Given the description of an element on the screen output the (x, y) to click on. 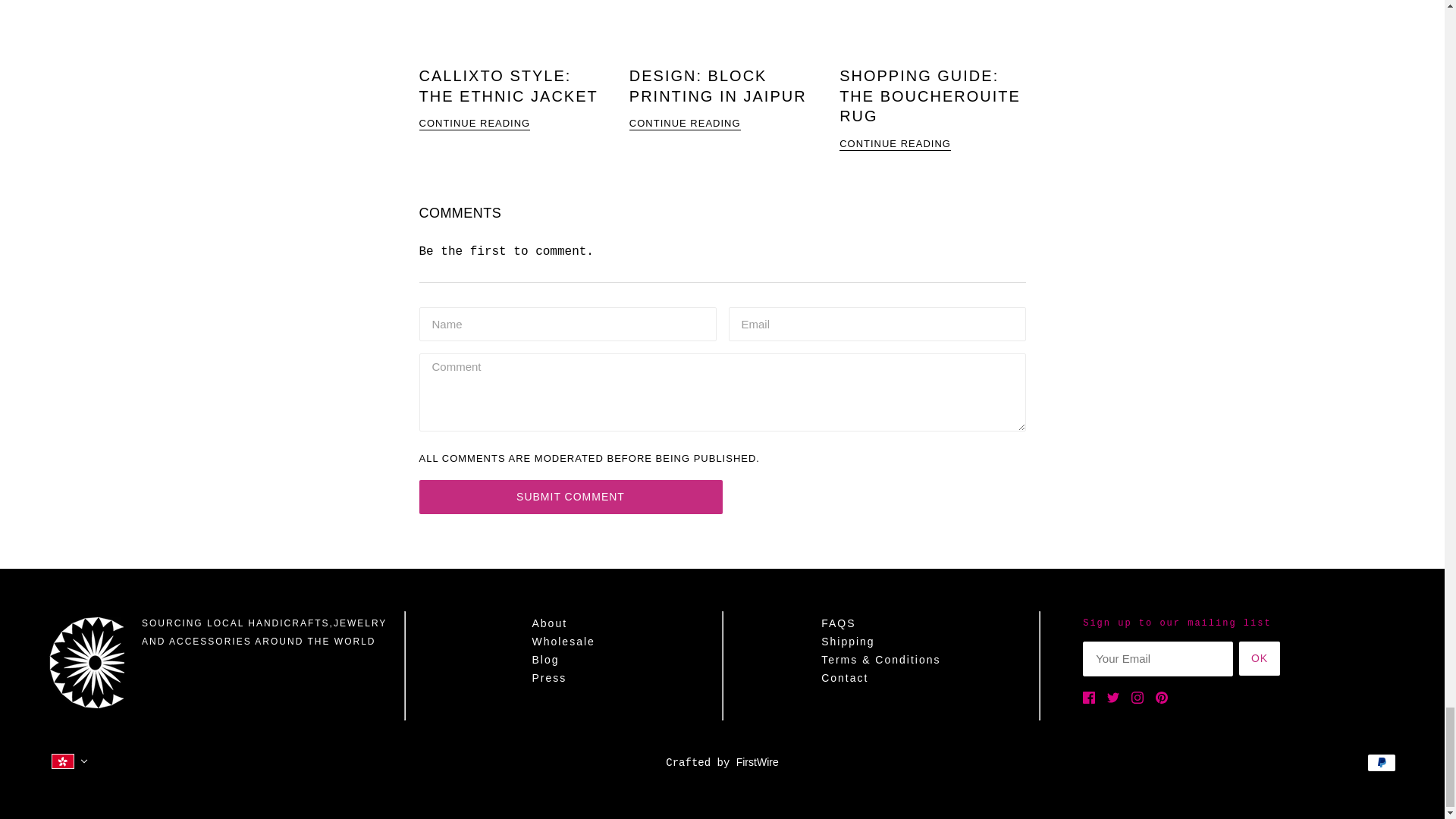
Contact (844, 677)
Shipping (848, 641)
PayPal (1381, 762)
Blog (545, 659)
Press (548, 677)
Wholesale (562, 641)
About (549, 623)
FAQS (838, 623)
